Given the description of an element on the screen output the (x, y) to click on. 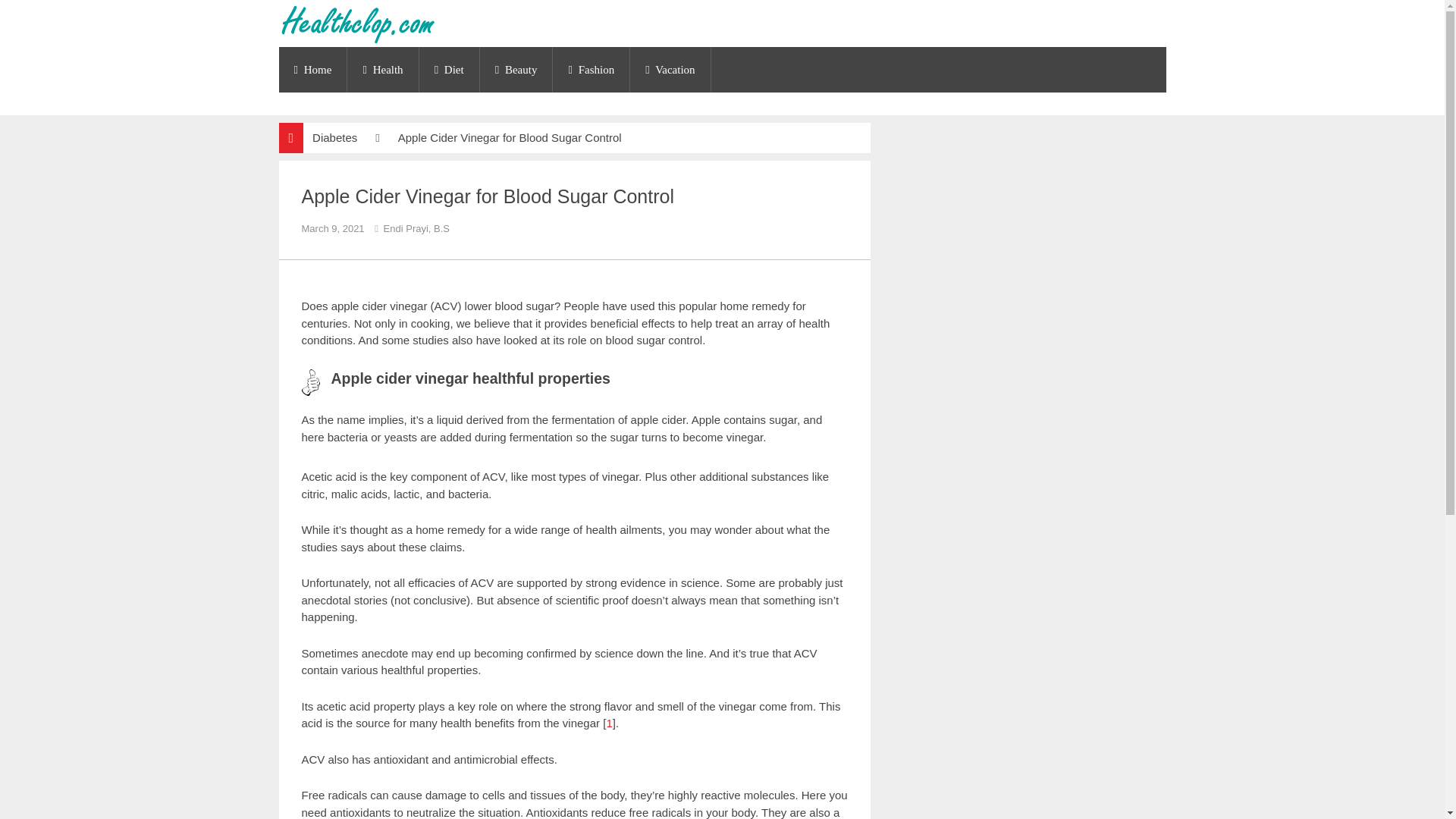
Diabetes (334, 137)
Endi Prayi, B.S (416, 228)
Posts by Endi Prayi, B.S (416, 228)
Vacation (670, 69)
Beauty (516, 69)
Home (313, 69)
Health (382, 69)
Fashion (590, 69)
Diet (449, 69)
